Given the description of an element on the screen output the (x, y) to click on. 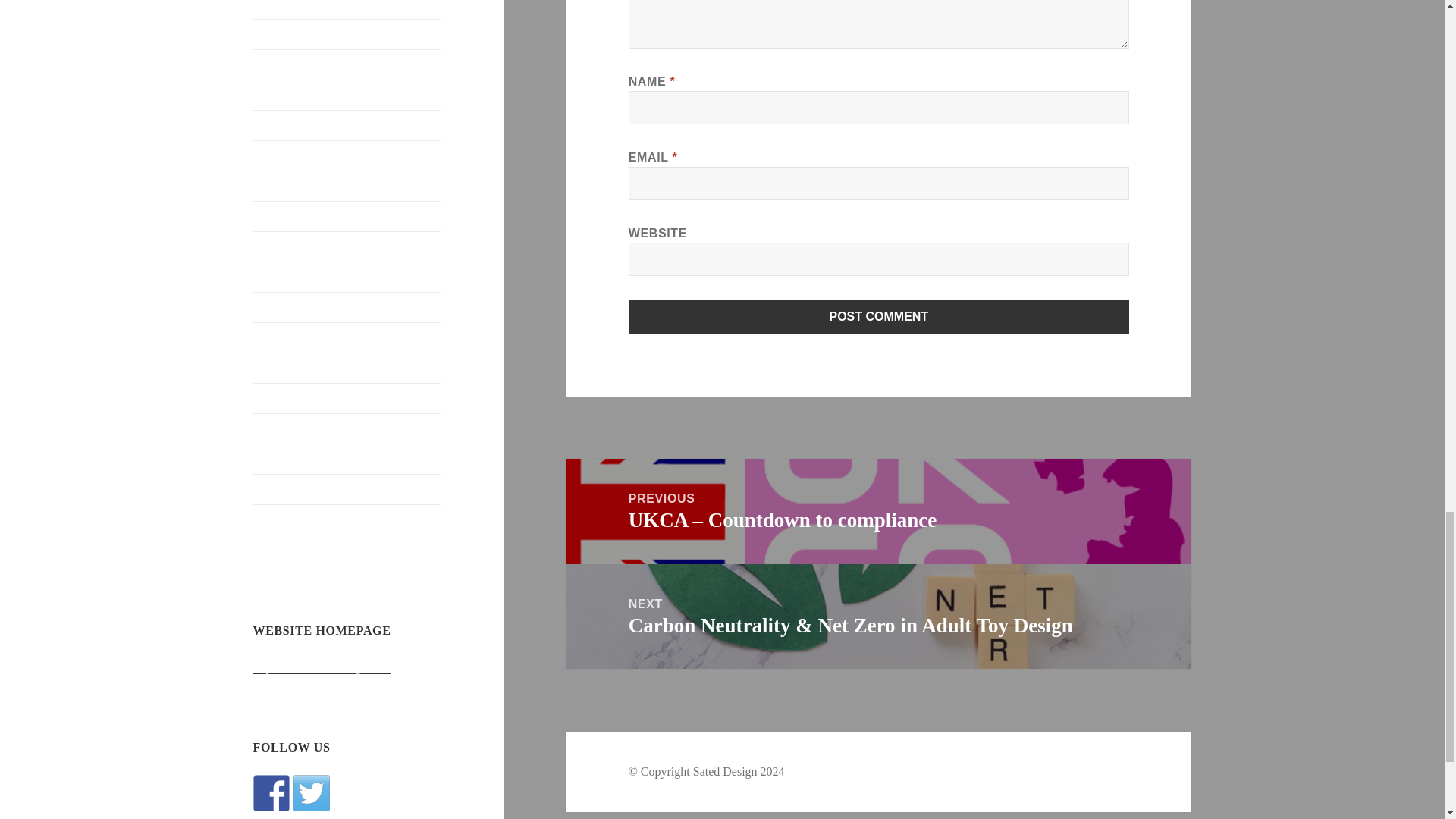
Post Comment (878, 316)
Follow us on Facebook (271, 792)
Follow us on Twitter (312, 792)
